Given the description of an element on the screen output the (x, y) to click on. 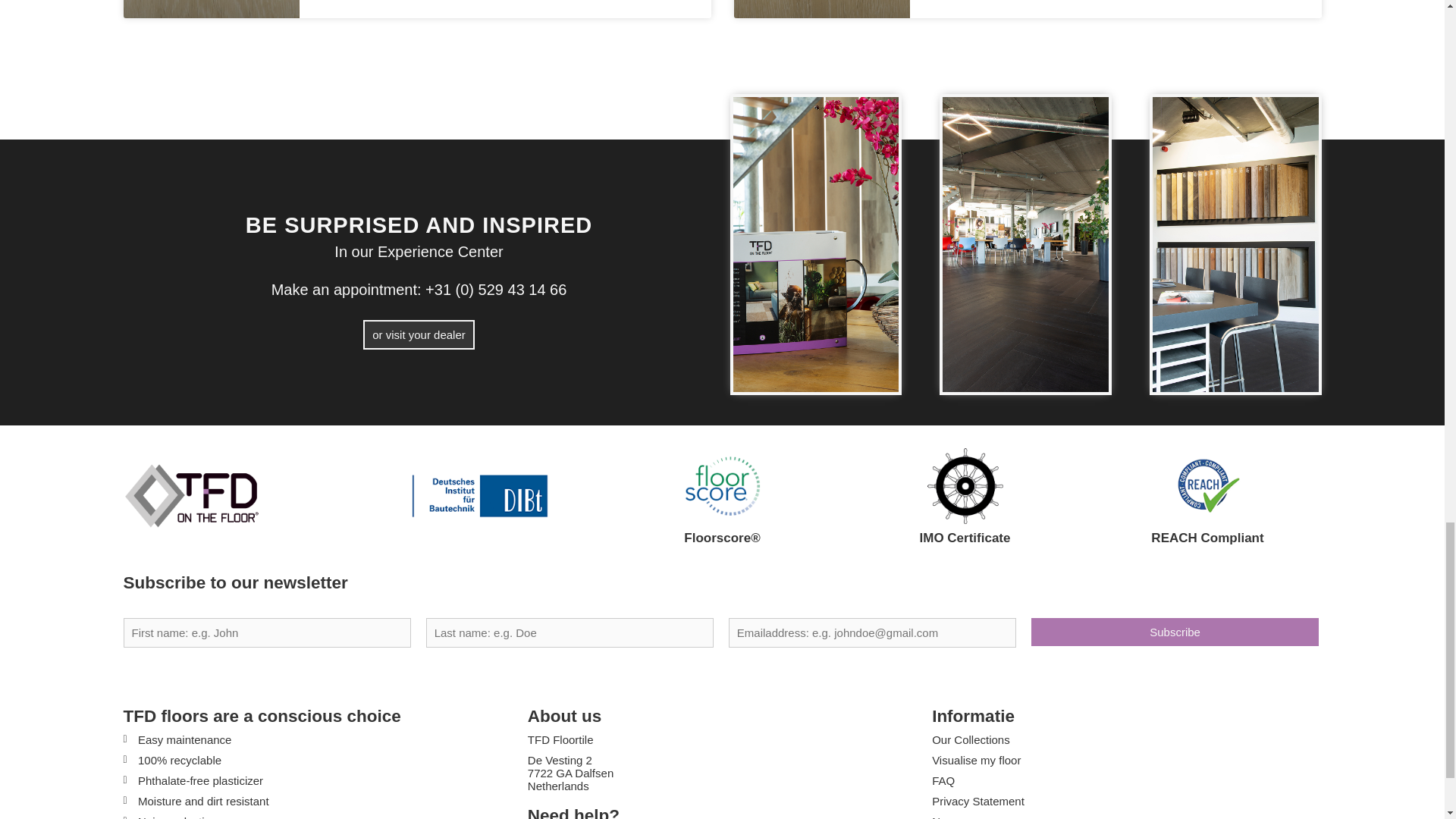
Subscribe (1174, 632)
